Given the description of an element on the screen output the (x, y) to click on. 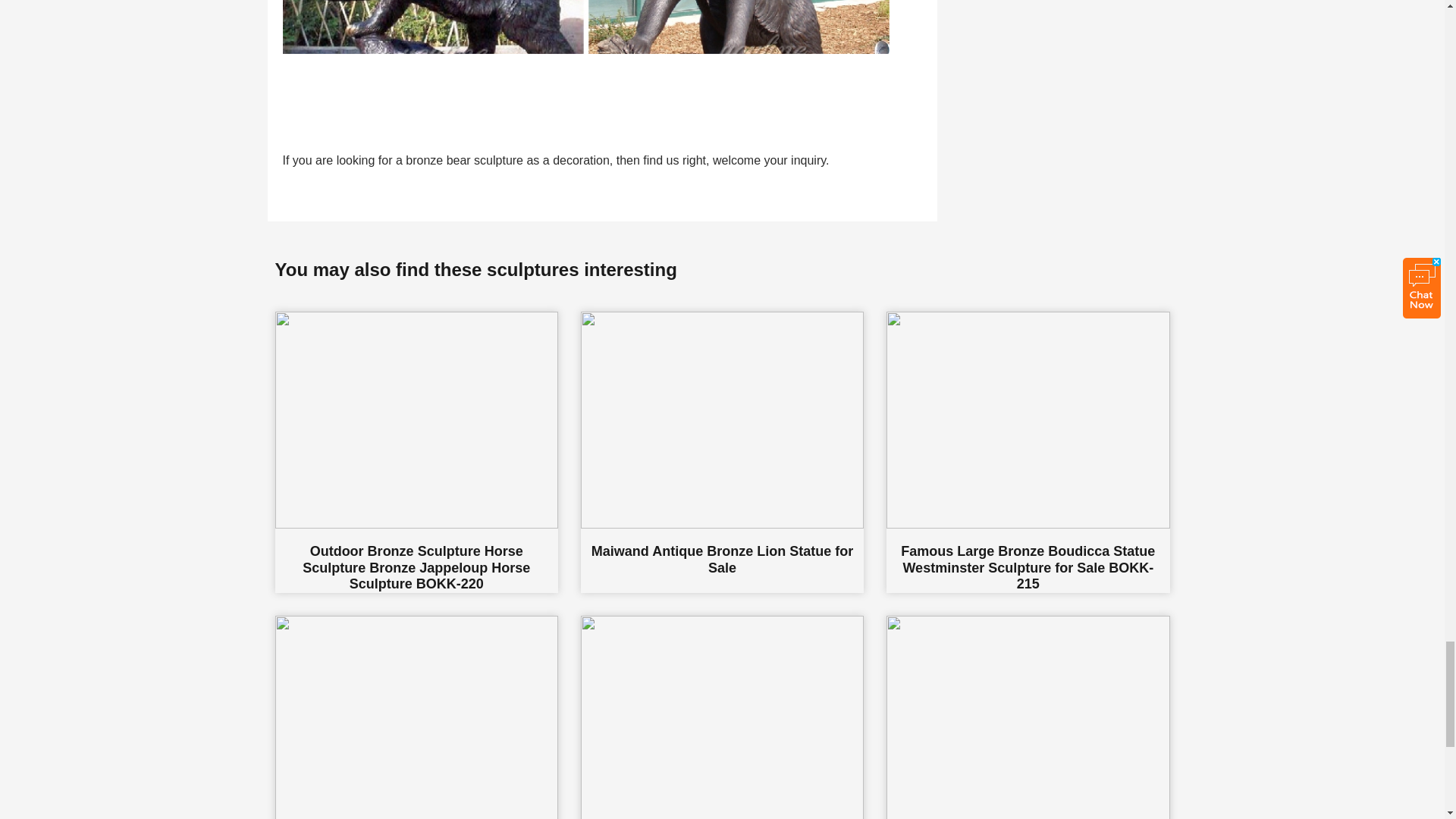
Outdoor Decoration Bronze Lion Sculpture for Sale BOKK-652 (721, 717)
Maiwand Antique Bronze Lion Statue for Sale (721, 452)
Outdoor Bronze Stag Garden Ornament Manufacturer (1027, 717)
Pround Forward Bronze Walking Horse For Garden (416, 717)
